Given the description of an element on the screen output the (x, y) to click on. 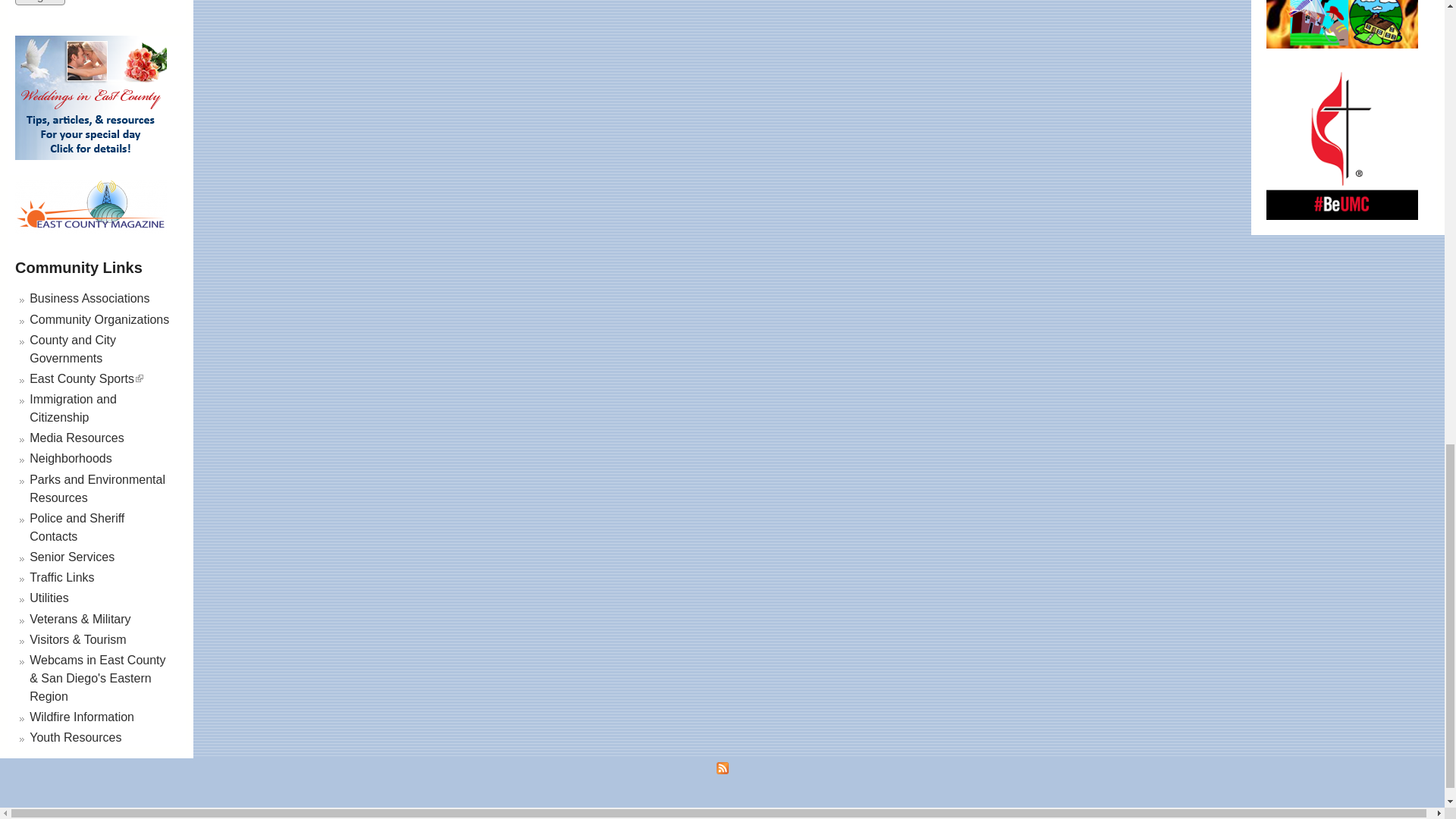
Log in (39, 2)
